Given the description of an element on the screen output the (x, y) to click on. 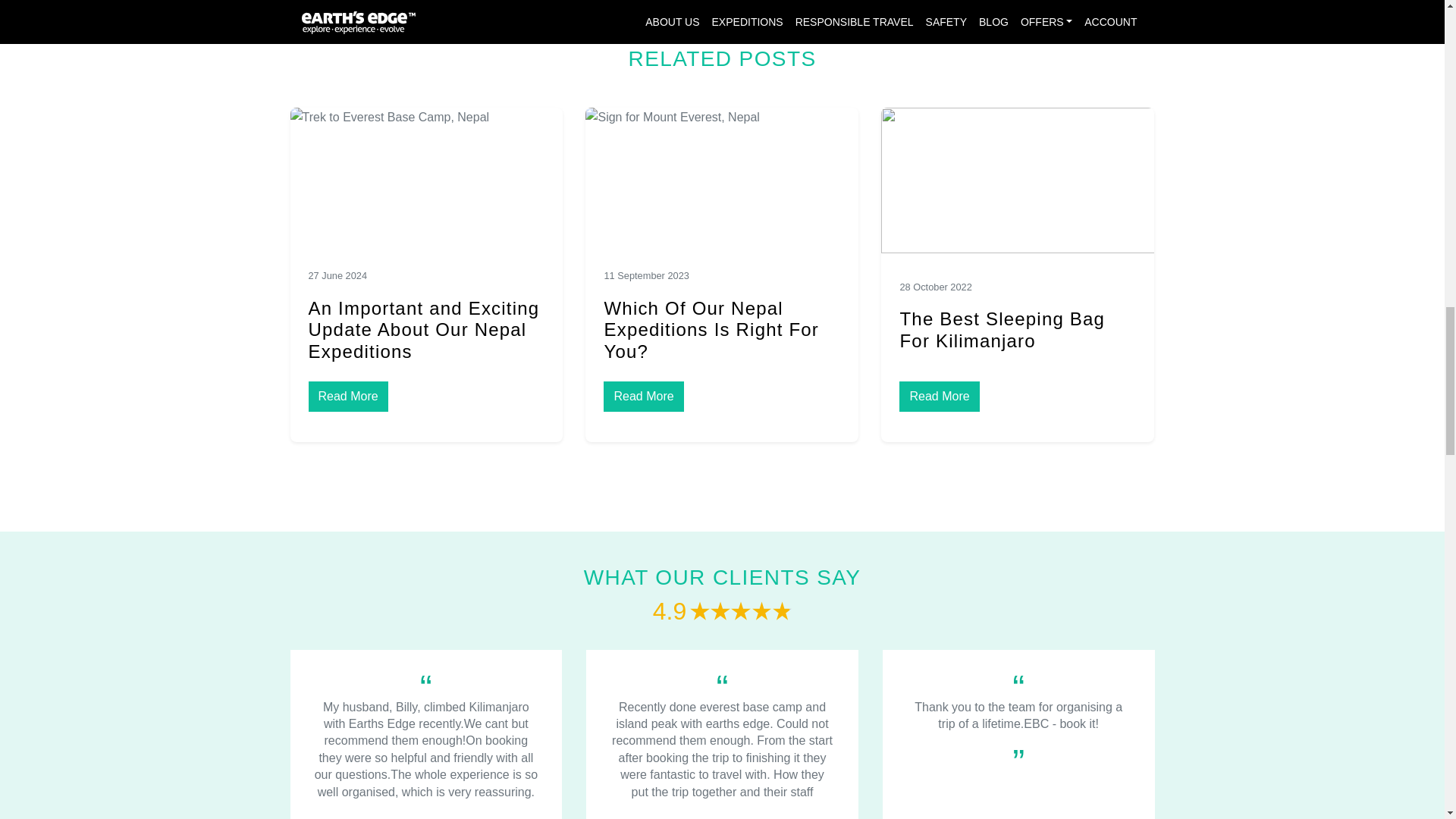
Read More (347, 396)
An Important and Exciting Update About Our Nepal Expeditions (422, 330)
Read More (643, 396)
Read More (938, 396)
The Best Sleeping Bag For Kilimanjaro (1002, 329)
Which Of Our Nepal Expeditions Is Right For You? (711, 330)
